Given the description of an element on the screen output the (x, y) to click on. 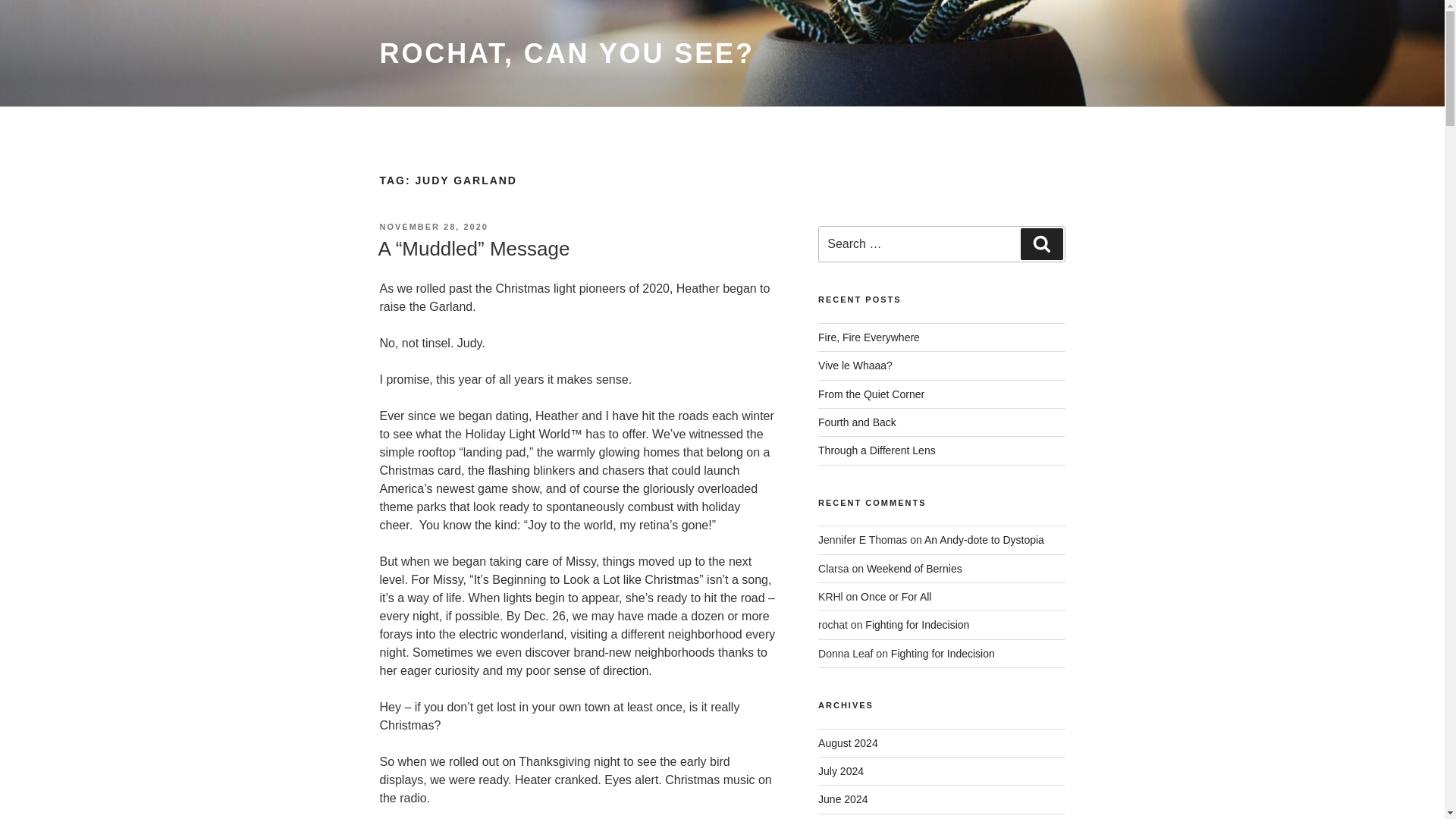
Once or For All (895, 596)
Fighting for Indecision (916, 624)
August 2024 (847, 743)
NOVEMBER 28, 2020 (432, 225)
Through a Different Lens (877, 450)
Weekend of Bernies (914, 568)
Fighting for Indecision (942, 653)
Search (1041, 244)
June 2024 (842, 799)
Fire, Fire Everywhere (869, 337)
July 2024 (840, 770)
An Andy-dote to Dystopia (983, 539)
ROCHAT, CAN YOU SEE? (566, 52)
From the Quiet Corner (871, 394)
Vive le Whaaa? (855, 365)
